Given the description of an element on the screen output the (x, y) to click on. 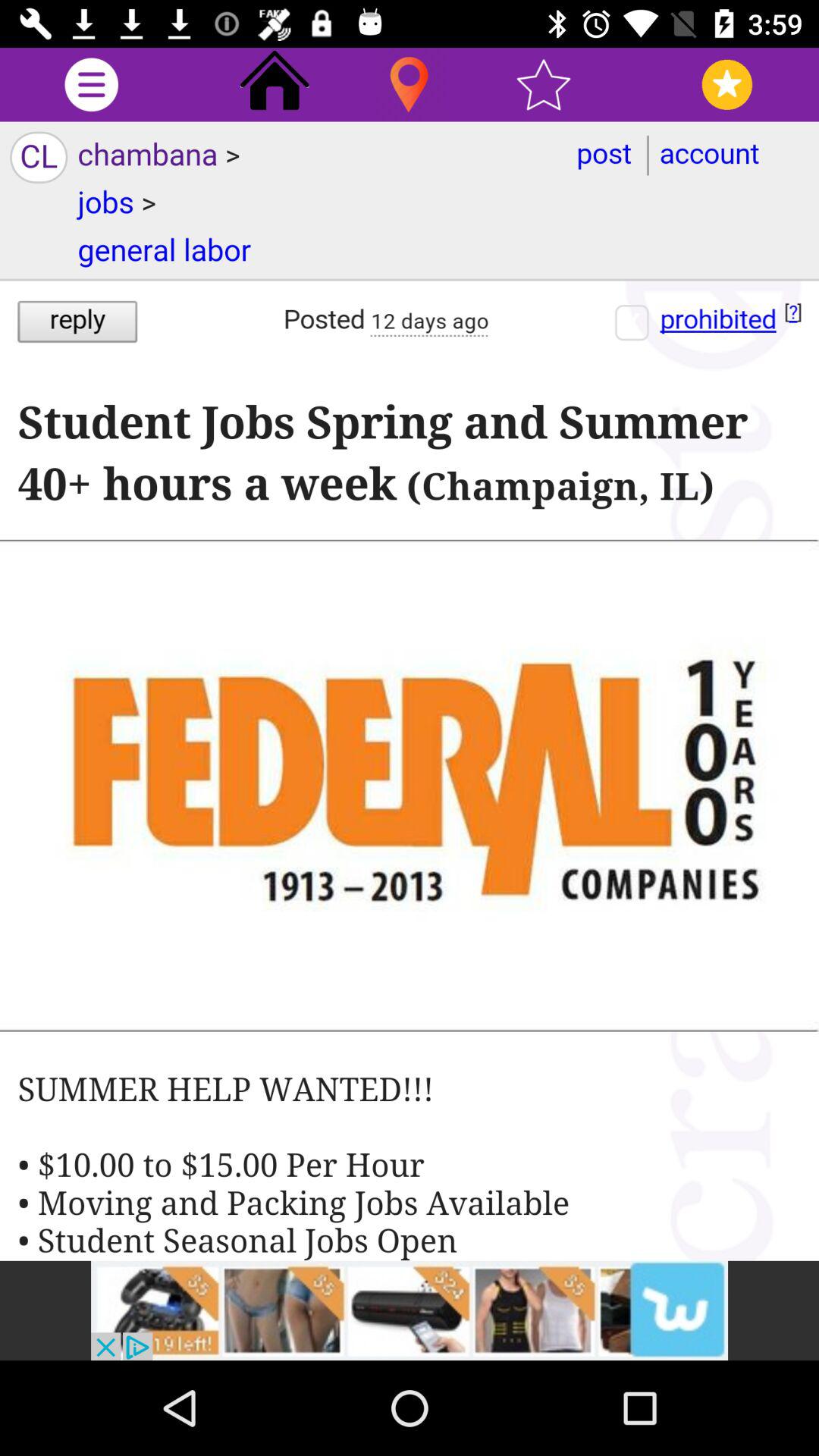
fovread (727, 84)
